Given the description of an element on the screen output the (x, y) to click on. 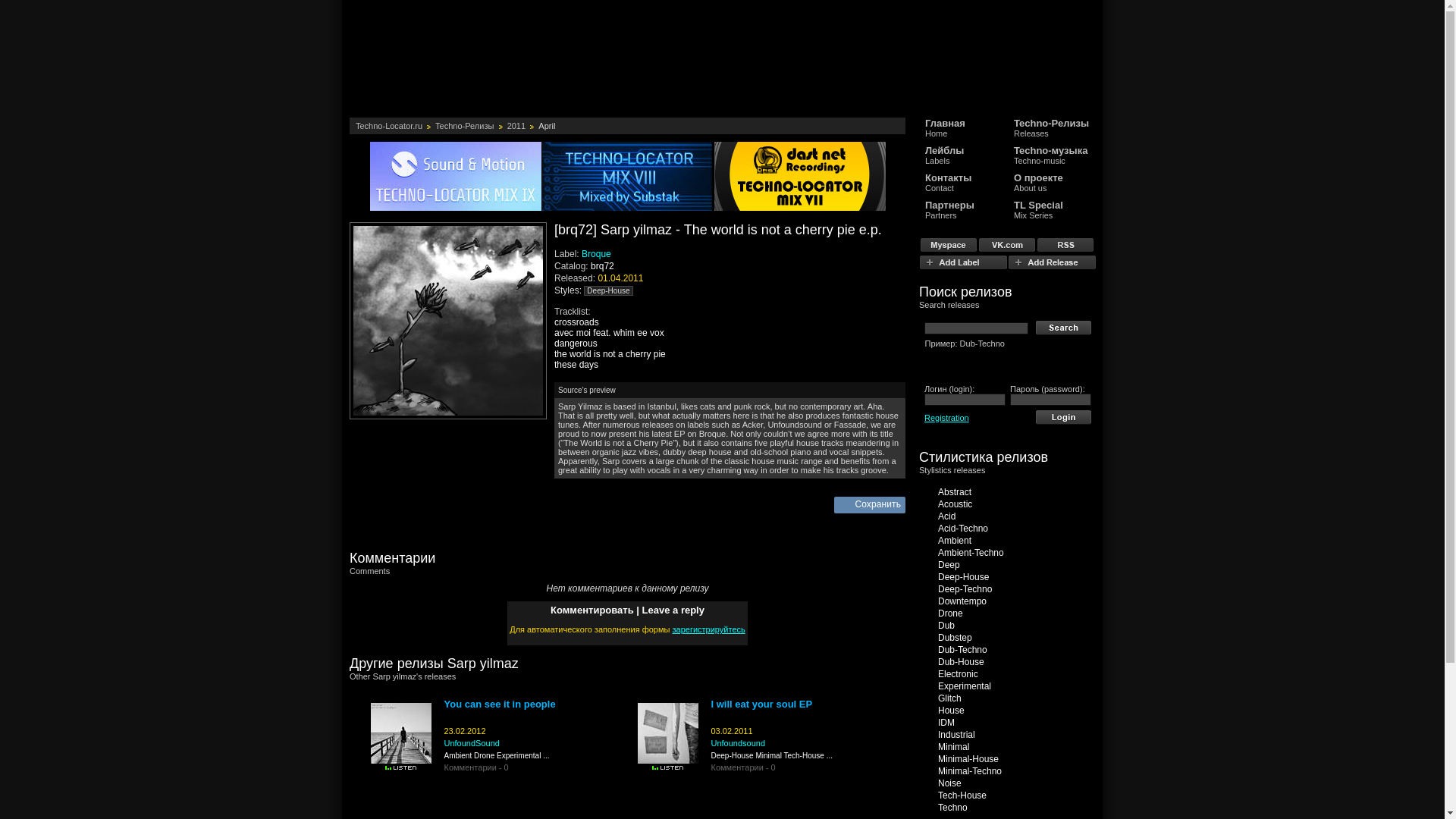
Registration (946, 416)
Techno-Locator.ru (1051, 208)
Broque (388, 125)
2011 (600, 253)
You can see it in people (515, 125)
I will eat your soul EP (500, 704)
